Given the description of an element on the screen output the (x, y) to click on. 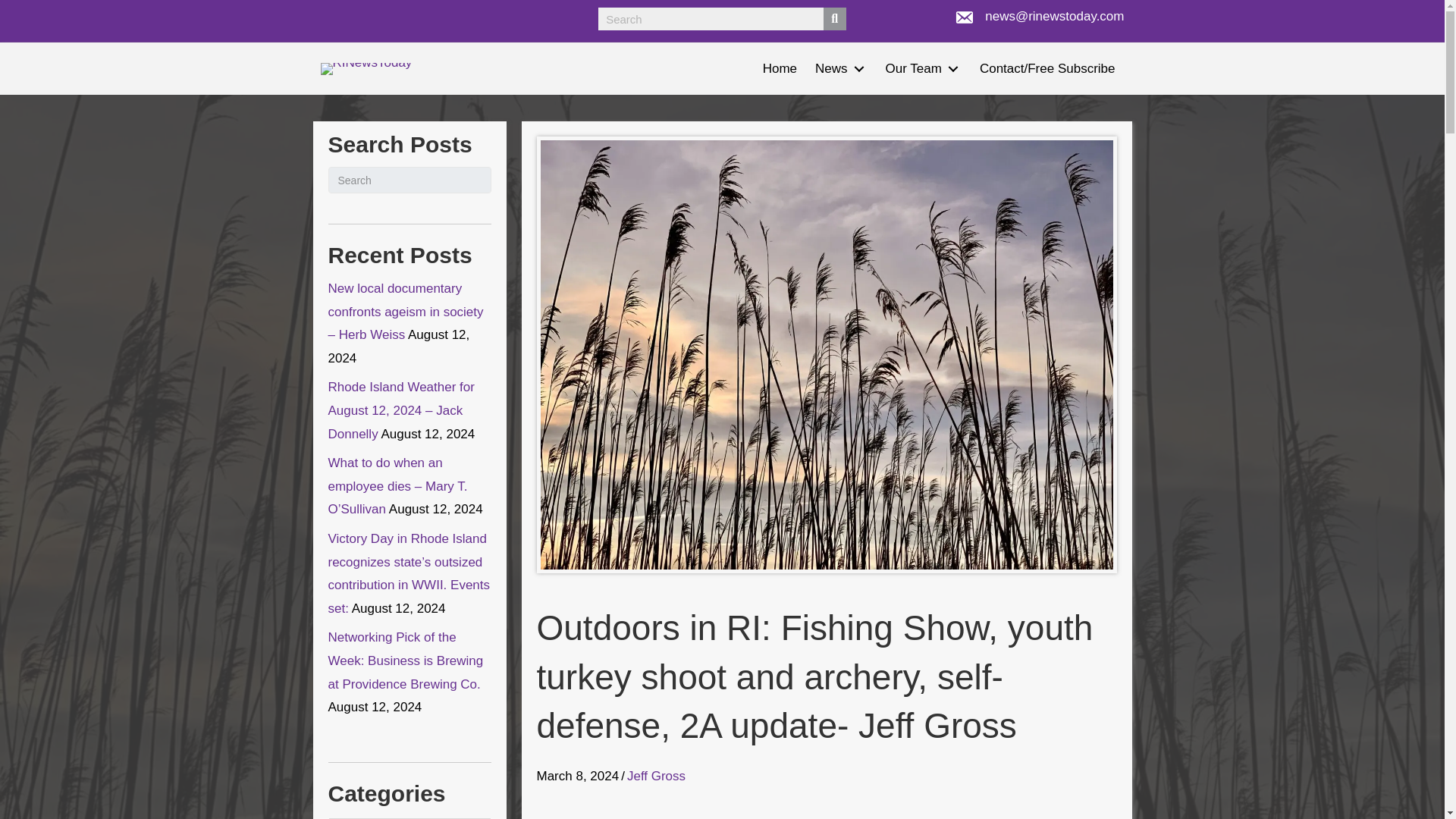
Our Team (923, 68)
Type and press Enter to search. (408, 180)
Search (711, 18)
RI News Today (366, 69)
Home (780, 68)
News (841, 68)
